Given the description of an element on the screen output the (x, y) to click on. 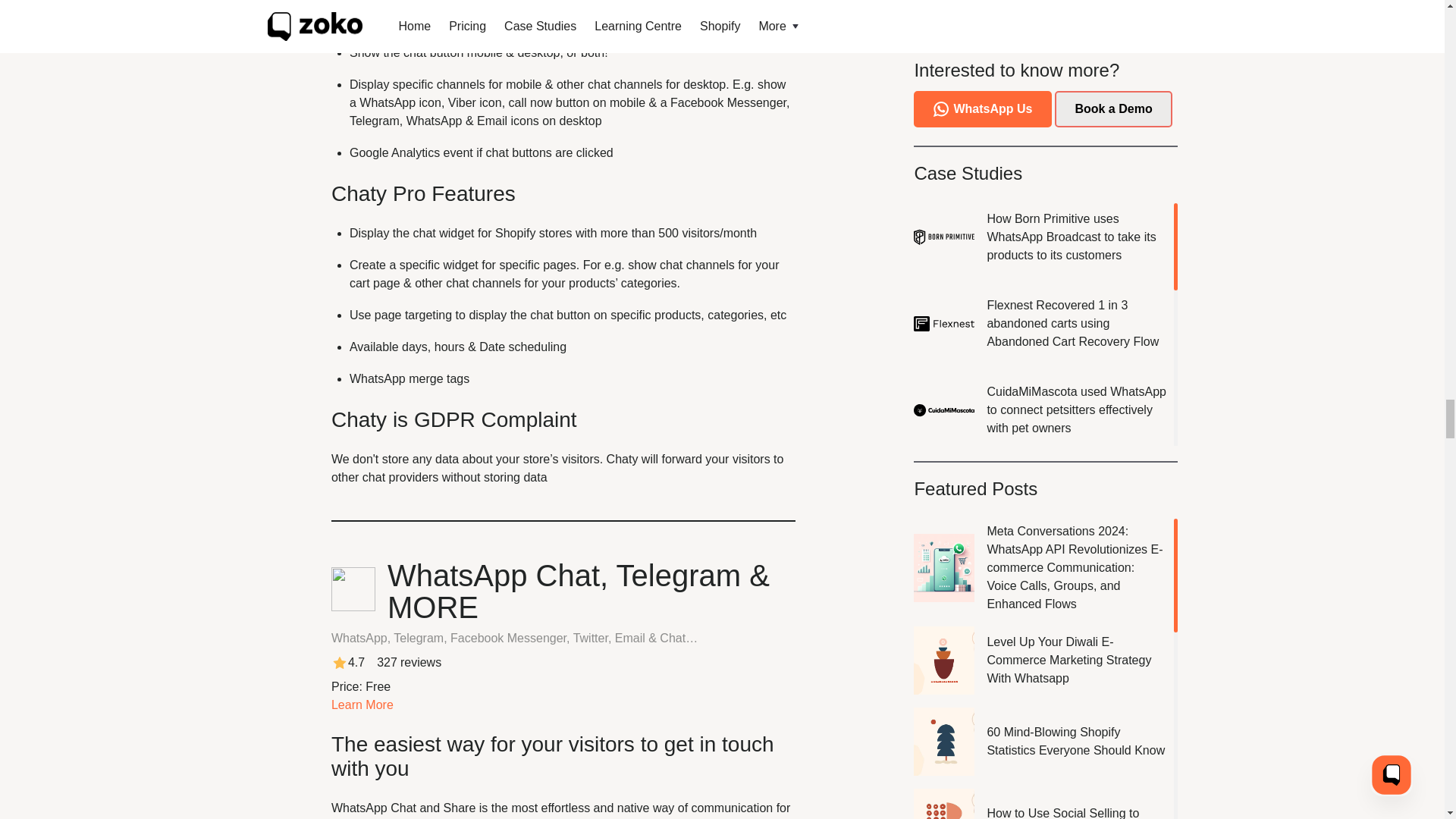
Learn More (362, 704)
